Given the description of an element on the screen output the (x, y) to click on. 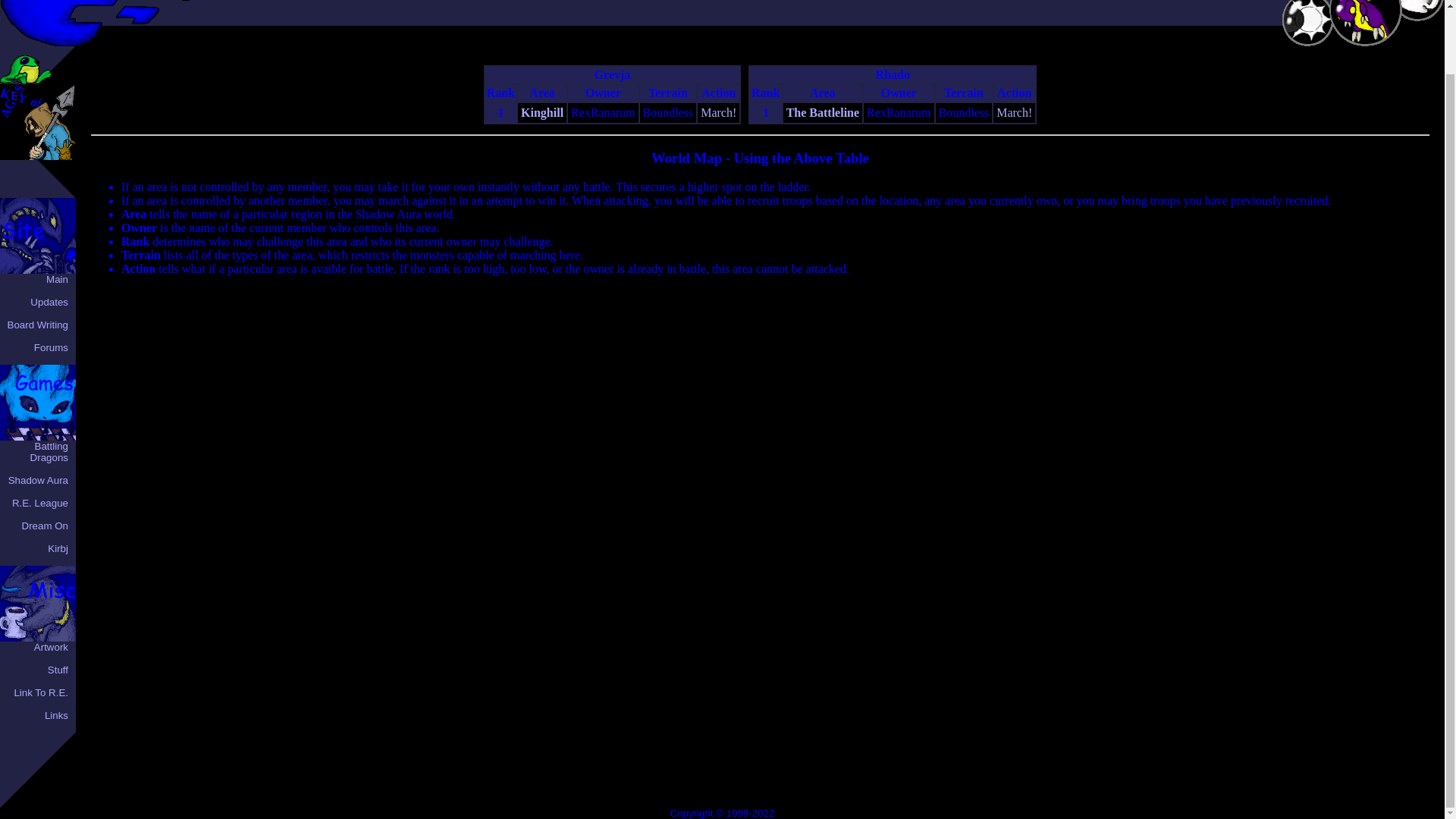
The Battleline (822, 112)
Shadow Aura (1307, 35)
Dream On (44, 525)
March! (718, 112)
Links (56, 715)
Kirbj (58, 548)
March! (1013, 112)
R.E. League (39, 502)
Stuff (58, 669)
Board Writing (37, 324)
